Given the description of an element on the screen output the (x, y) to click on. 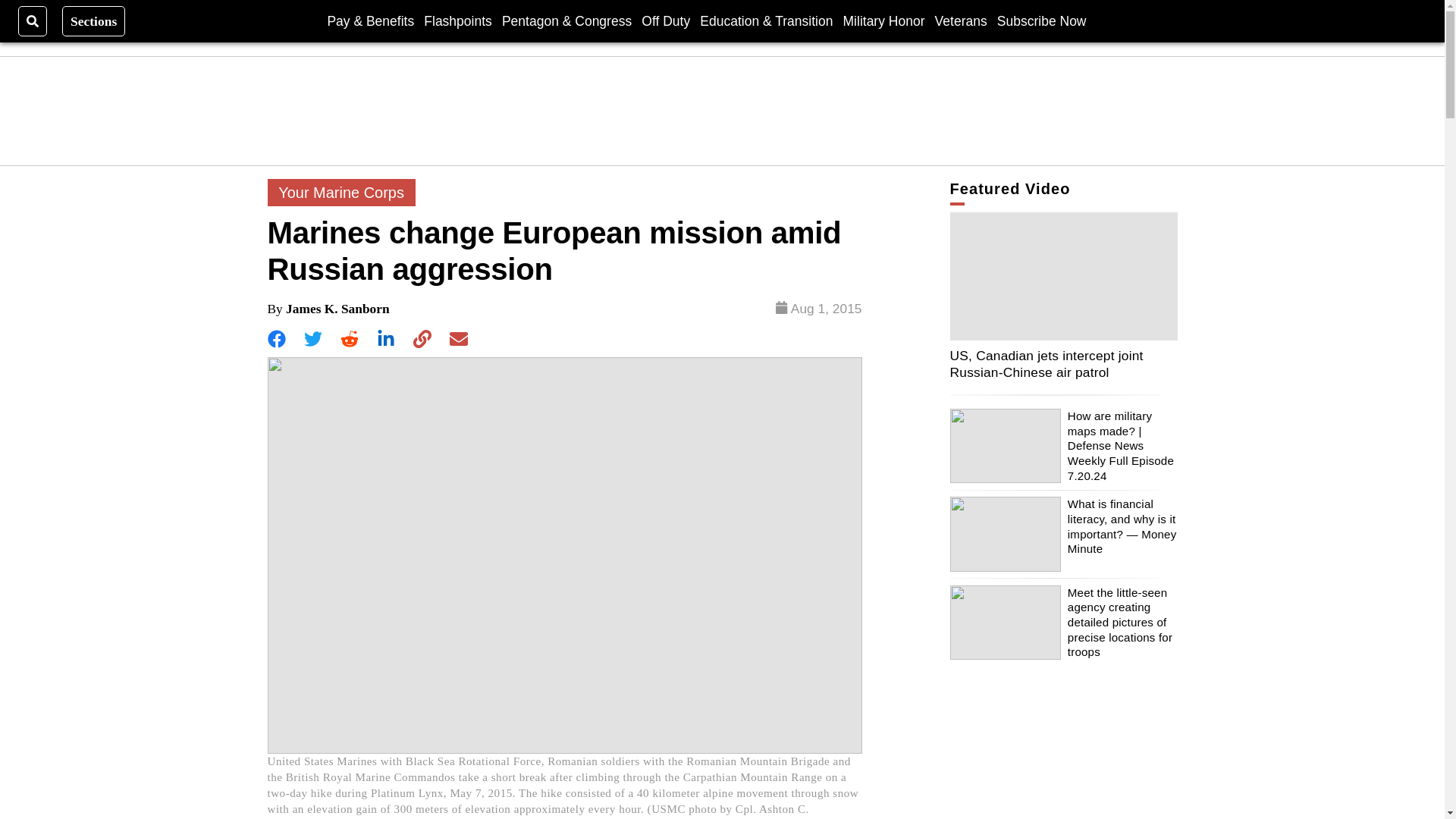
Sections (93, 20)
Flashpoints (457, 20)
Military Honor (883, 20)
Off Duty (666, 20)
Veterans (960, 20)
